Given the description of an element on the screen output the (x, y) to click on. 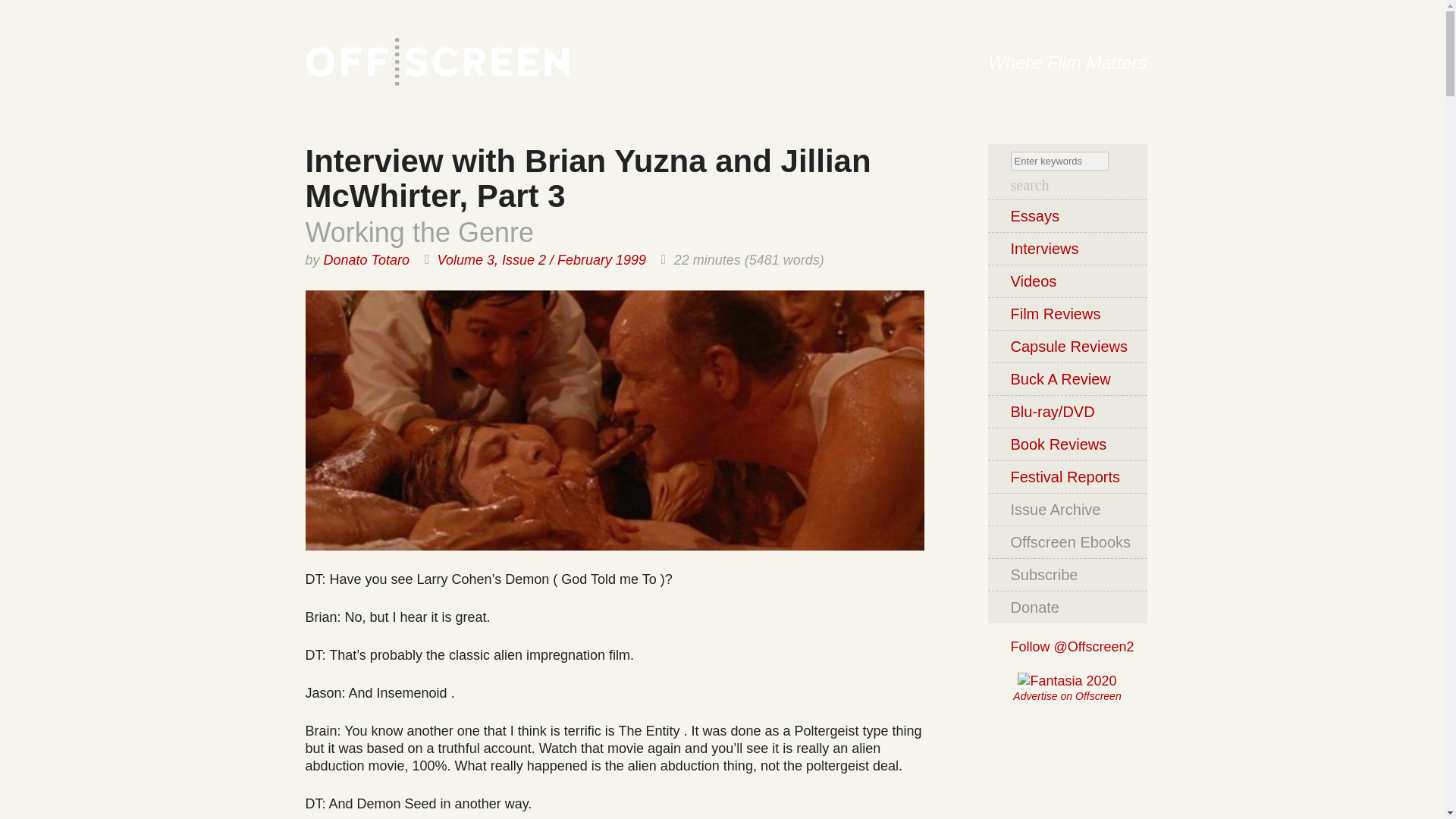
Donate (1067, 606)
Book Reviews (1067, 443)
Interviews (1067, 247)
Essays (1067, 215)
Issue Archive (1067, 509)
search (1029, 184)
Capsule Reviews (1067, 346)
Offscreen Ebooks (1067, 541)
Film Reviews (1067, 313)
Videos (1067, 280)
Festival Reports (1067, 476)
Donato Totaro (366, 259)
Subscribe (1067, 573)
Advertise on Offscreen (1067, 695)
Buck A Review (1067, 378)
